Given the description of an element on the screen output the (x, y) to click on. 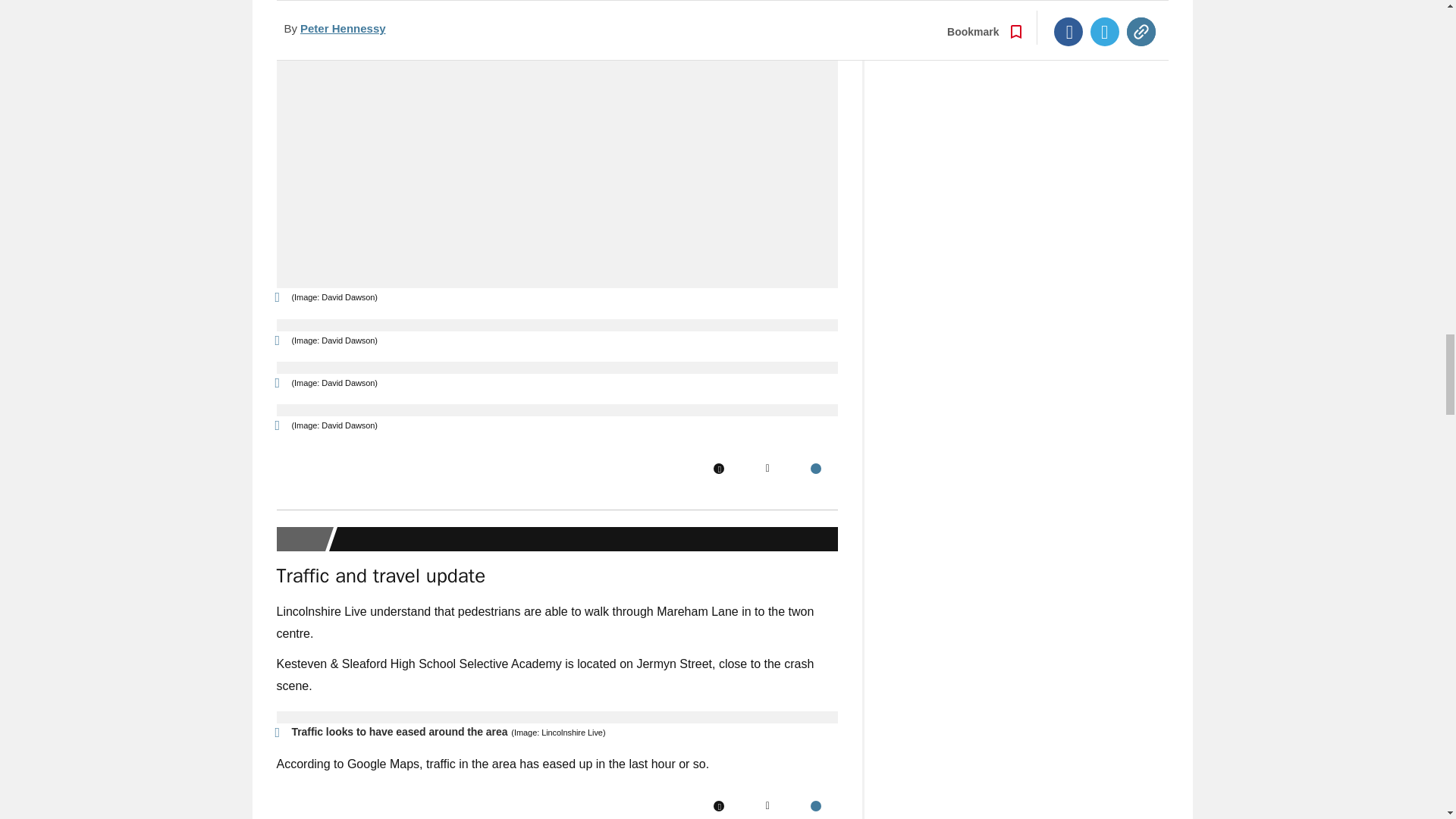
Twitter (767, 805)
Facebook (718, 468)
Facebook (718, 805)
Twitter (767, 468)
